Given the description of an element on the screen output the (x, y) to click on. 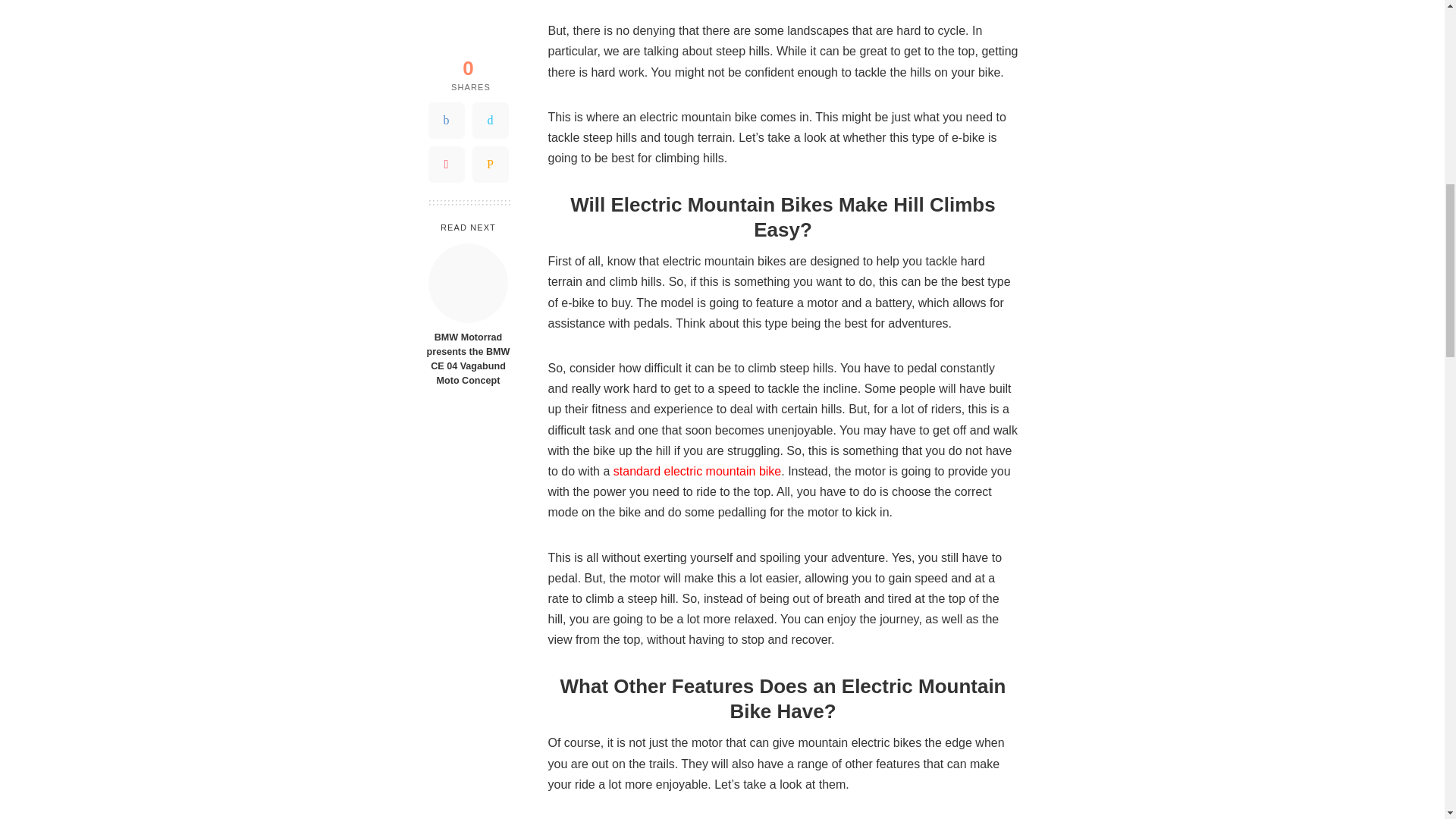
Email (489, 43)
Pinterest (446, 43)
Twitter (489, 8)
Facebook (446, 8)
